Given the description of an element on the screen output the (x, y) to click on. 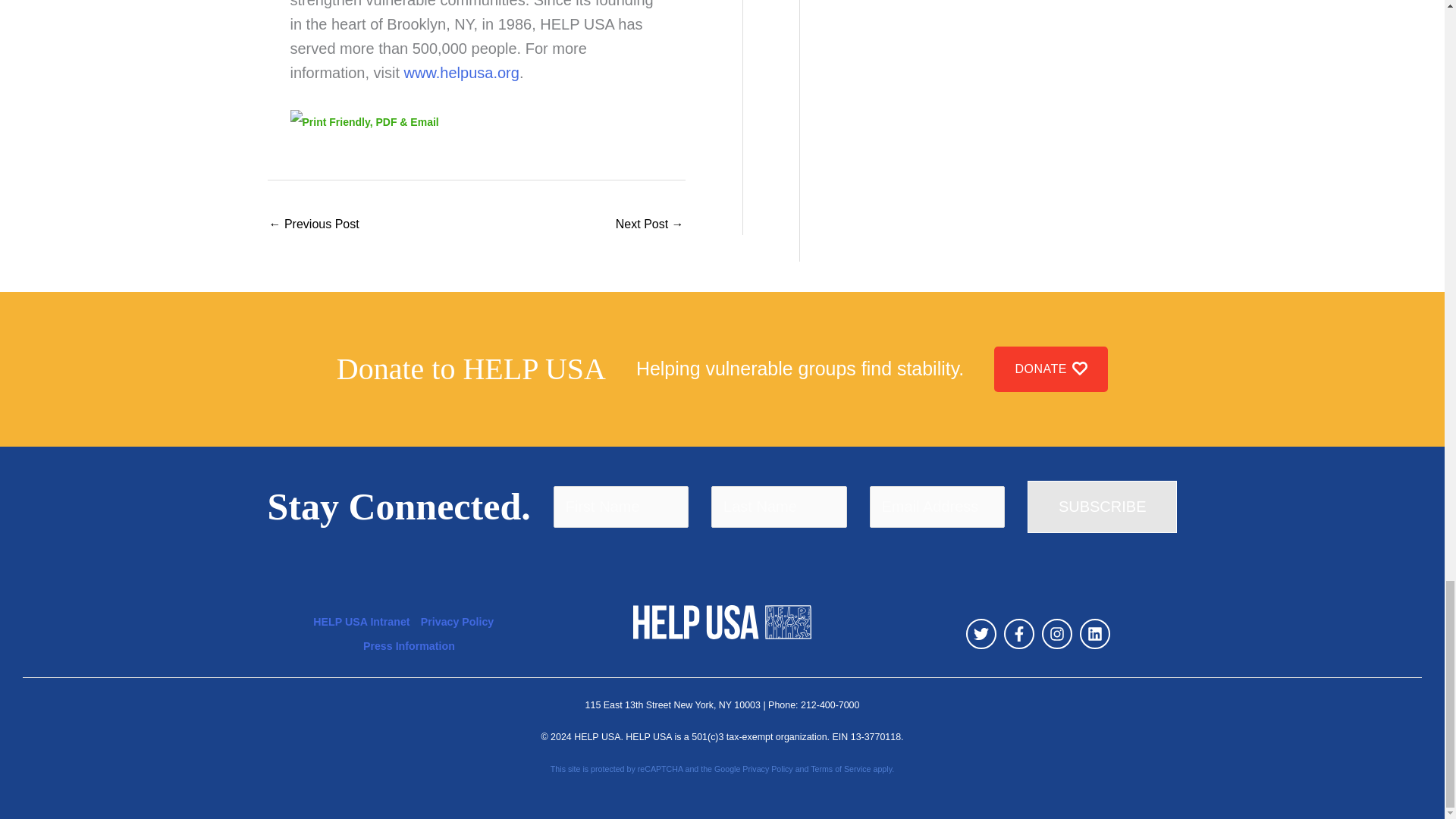
Subscribe (1102, 506)
